Given the description of an element on the screen output the (x, y) to click on. 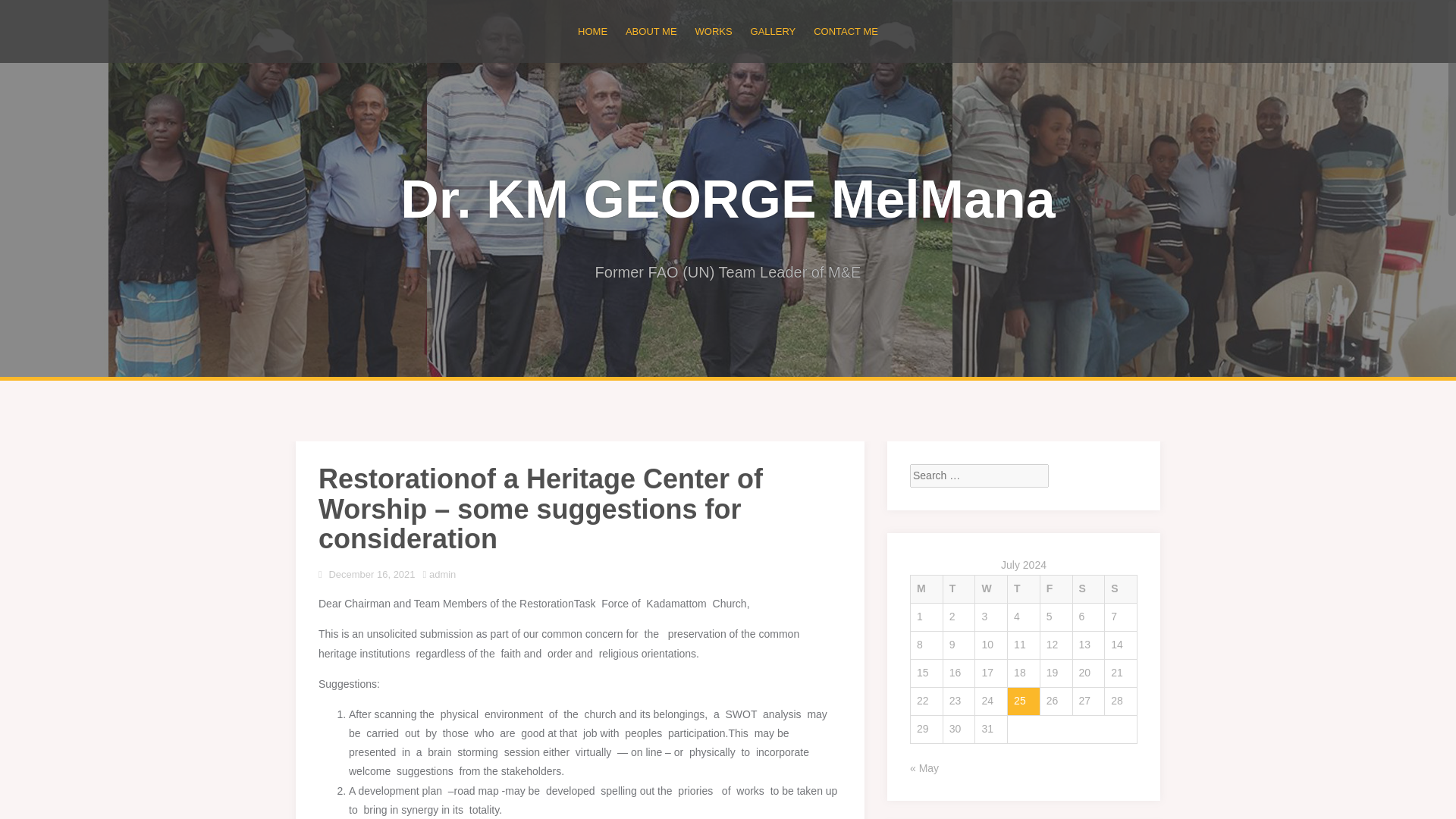
CONTACT ME (845, 31)
Thursday (1024, 589)
Search (24, 11)
GALLERY (773, 31)
December 16, 2021 (371, 573)
Dr. KM GEORGE MelMana (727, 199)
admin (442, 573)
Sunday (1121, 589)
Monday (926, 589)
Friday (1055, 589)
Tuesday (958, 589)
Wednesday (991, 589)
Saturday (1088, 589)
HOME (592, 31)
ABOUT ME (651, 31)
